Given the description of an element on the screen output the (x, y) to click on. 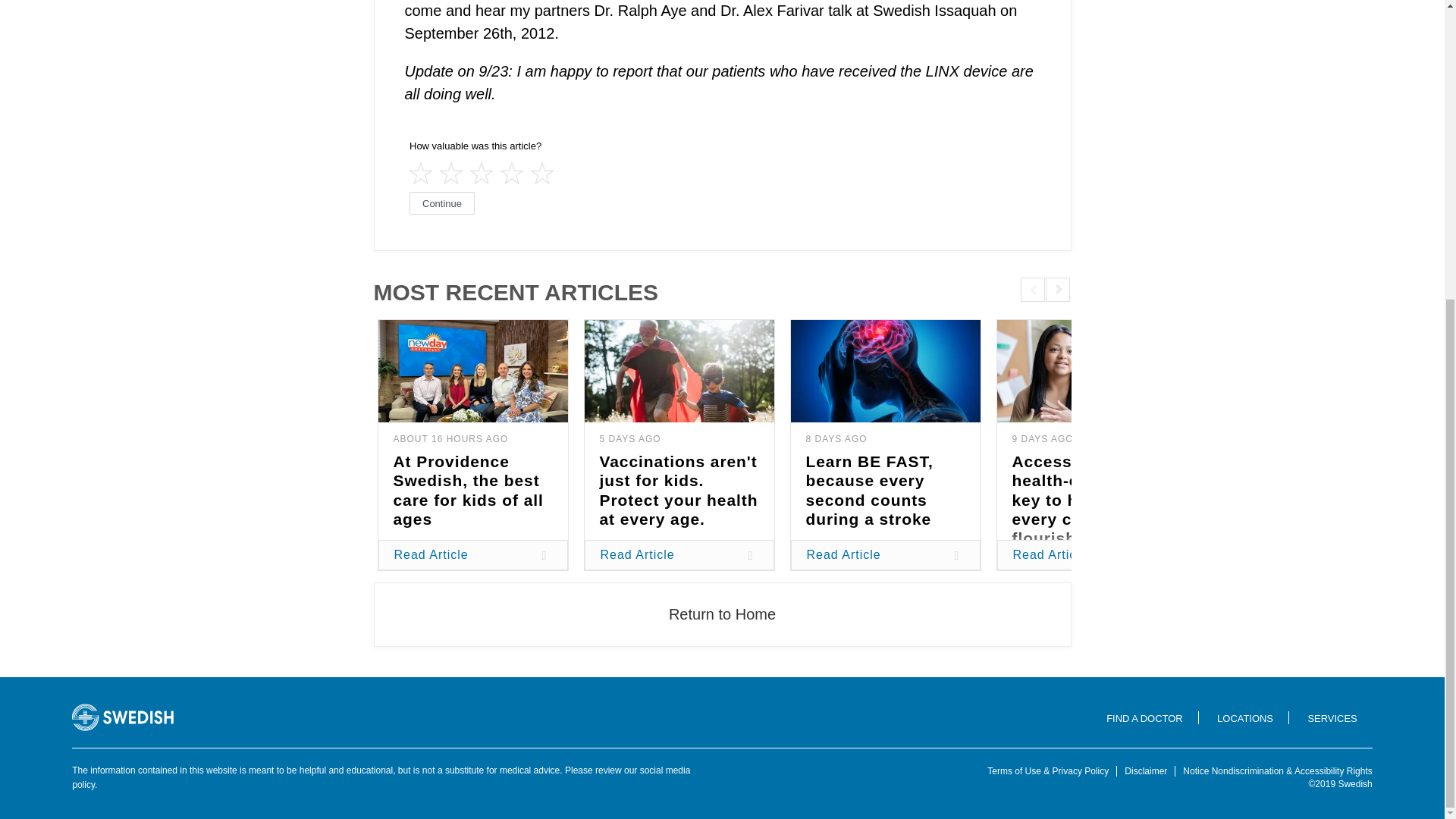
2024-07-26T10:43:18 (450, 439)
2024-07-19T13:47:56 (835, 439)
2024-07-17T15:18:42 (1042, 439)
2024-07-22T14:02:18 (629, 439)
